Given the description of an element on the screen output the (x, y) to click on. 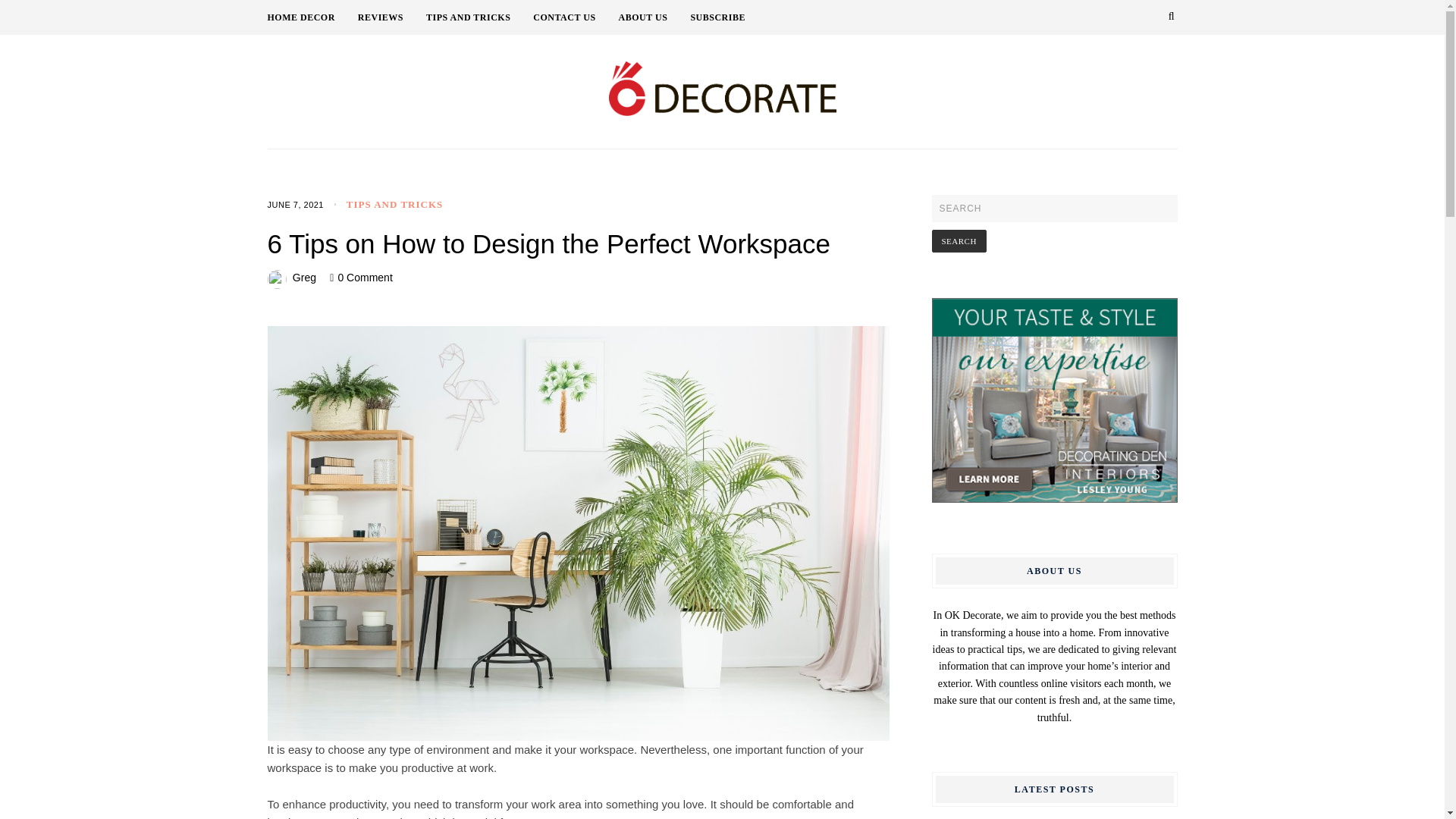
TIPS AND TRICKS (394, 204)
Search (958, 241)
ABOUT US (654, 17)
Posts by greg (303, 277)
Greg (303, 277)
SUBSCRIBE (717, 17)
JUNE 7, 2021 (294, 204)
Search (958, 241)
TIPS AND TRICKS (479, 17)
0 Comment (364, 277)
CONTACT US (574, 17)
REVIEWS (392, 17)
HOME DECOR (311, 17)
